Given the description of an element on the screen output the (x, y) to click on. 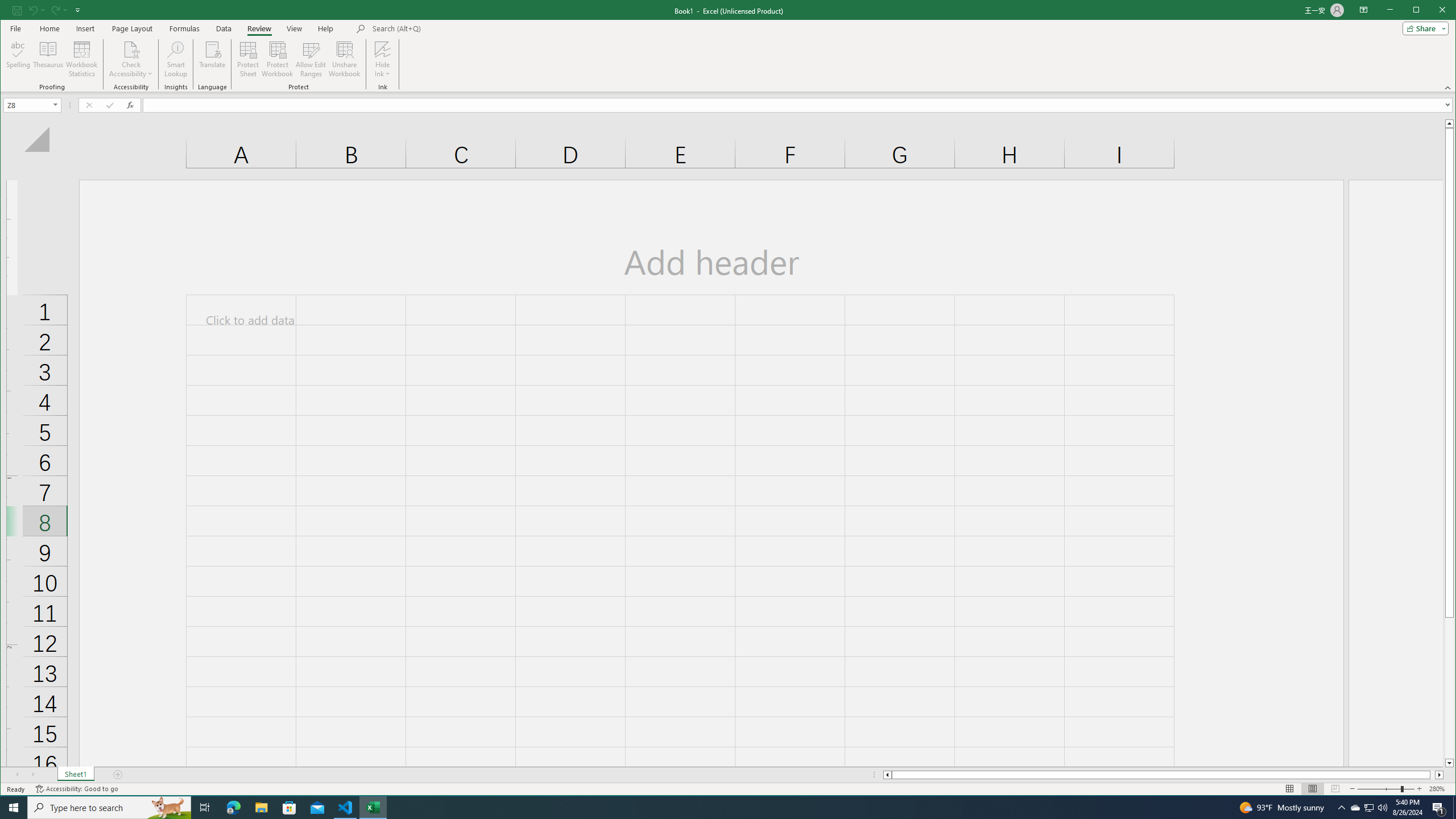
Q2790: 100% (1382, 807)
Ribbon Display Options (1364, 9)
Redo (58, 9)
Protect Sheet... (247, 59)
Running applications (717, 807)
Zoom (1384, 788)
Allow Edit Ranges (310, 59)
Redo (55, 9)
Microsoft Edge (233, 807)
Sheet1 (75, 774)
Action Center, 1 new notification (1439, 807)
Undo (32, 9)
Check Accessibility (130, 48)
Search highlights icon opens search home window (167, 807)
